Given the description of an element on the screen output the (x, y) to click on. 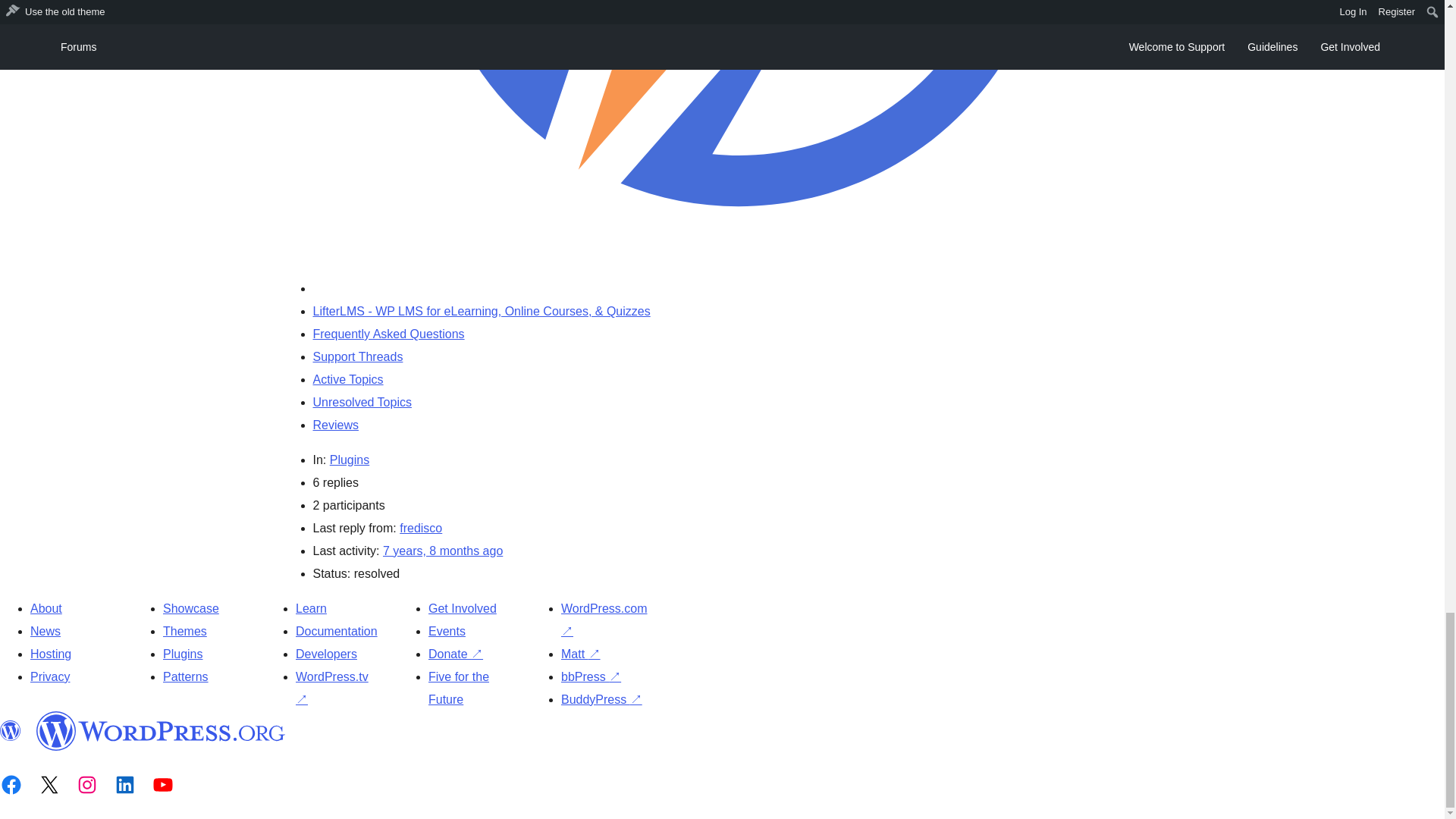
WordPress.org (160, 731)
WordPress.org (10, 731)
